Given the description of an element on the screen output the (x, y) to click on. 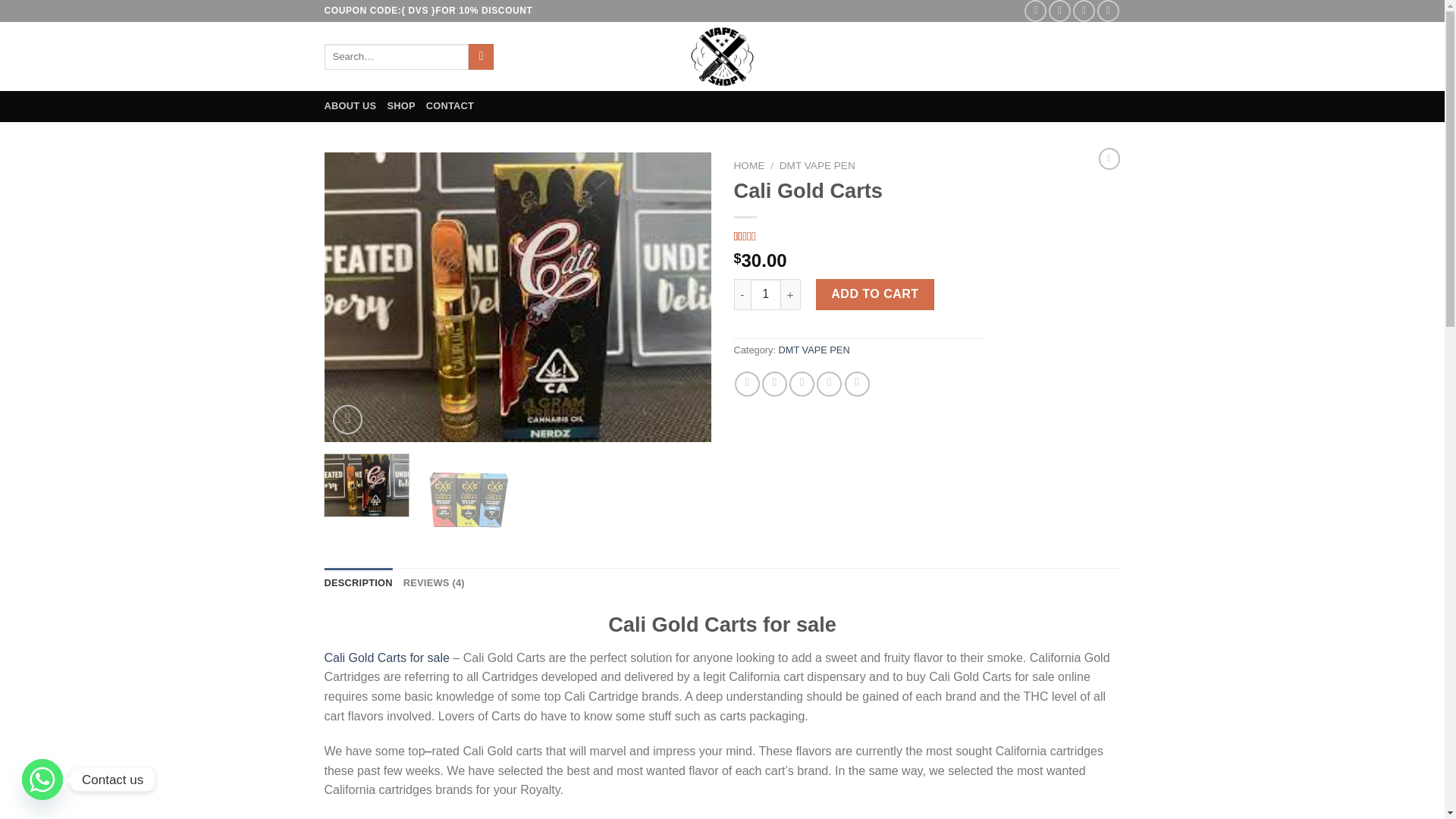
CONTACT (450, 105)
Follow on Instagram (1059, 11)
DMT VAPE PEN (817, 165)
Qty (765, 294)
Follow on Facebook (1035, 11)
Search (480, 56)
SHOP (400, 105)
dmtvapeshop.com (721, 56)
Cart (1097, 56)
1 (765, 294)
Share on Facebook (747, 383)
- (742, 294)
Cali Gold Carts (517, 297)
HOME (749, 165)
ADD TO CART (874, 294)
